Given the description of an element on the screen output the (x, y) to click on. 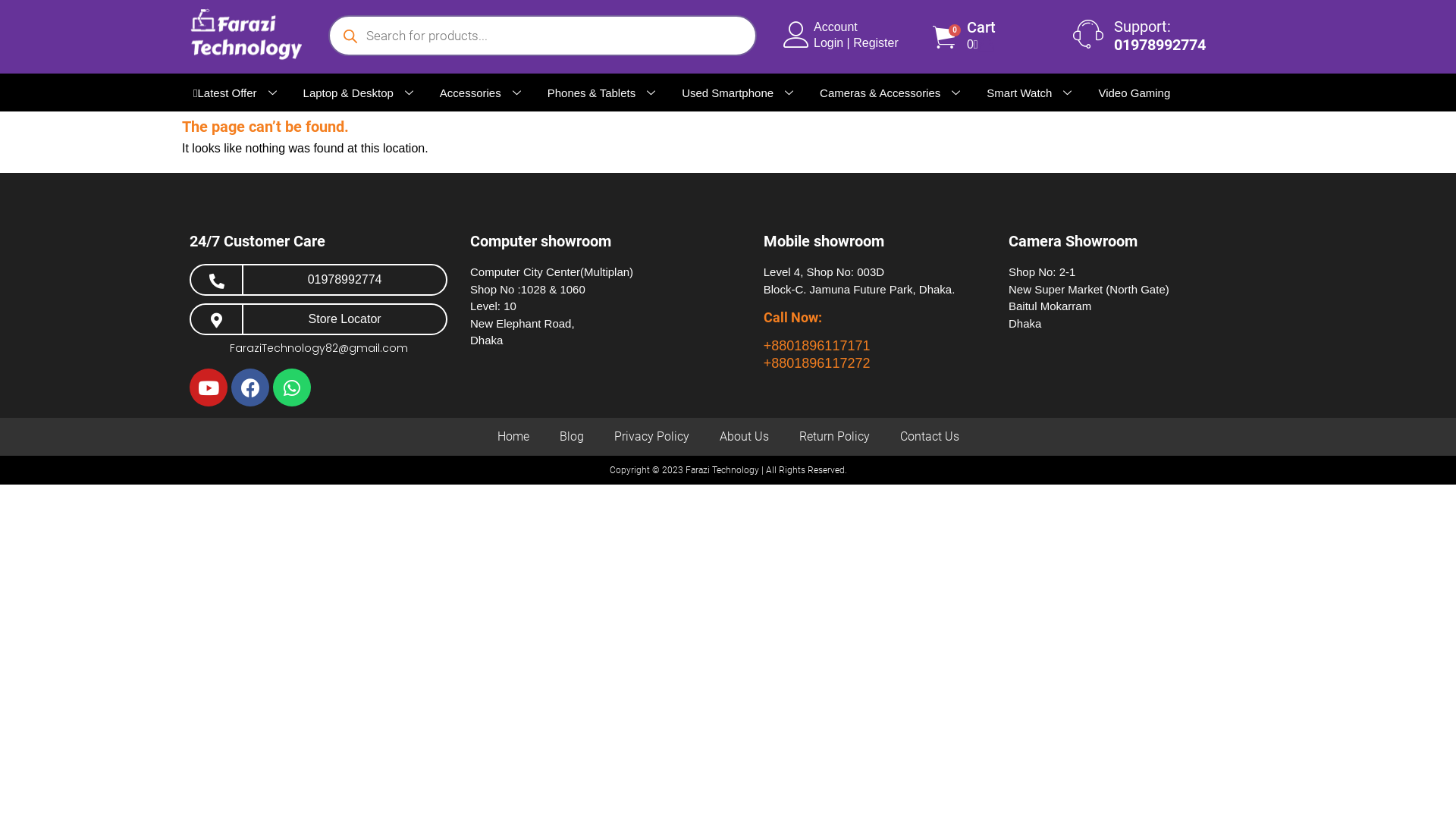
Home Element type: text (513, 436)
About Us Element type: text (743, 436)
Phones & Tablets Element type: text (603, 92)
Blog Element type: text (571, 436)
Used Smartphone Element type: text (739, 92)
Farazi Technology Element type: text (722, 469)
Privacy Policy Element type: text (651, 436)
Video Gaming Element type: text (1133, 92)
Smart Watch Element type: text (1030, 92)
Cameras & Accessories Element type: text (891, 92)
Login | Register Element type: text (855, 42)
+8801896117272 Element type: text (816, 362)
Accessories Element type: text (482, 92)
01978992774 Element type: text (344, 279)
Contact Us Element type: text (928, 436)
Account Element type: text (835, 26)
+8801896117171 Element type: text (816, 345)
Return Policy Element type: text (834, 436)
0 Element type: text (943, 36)
Laptop & Desktop Element type: text (359, 92)
